Given the description of an element on the screen output the (x, y) to click on. 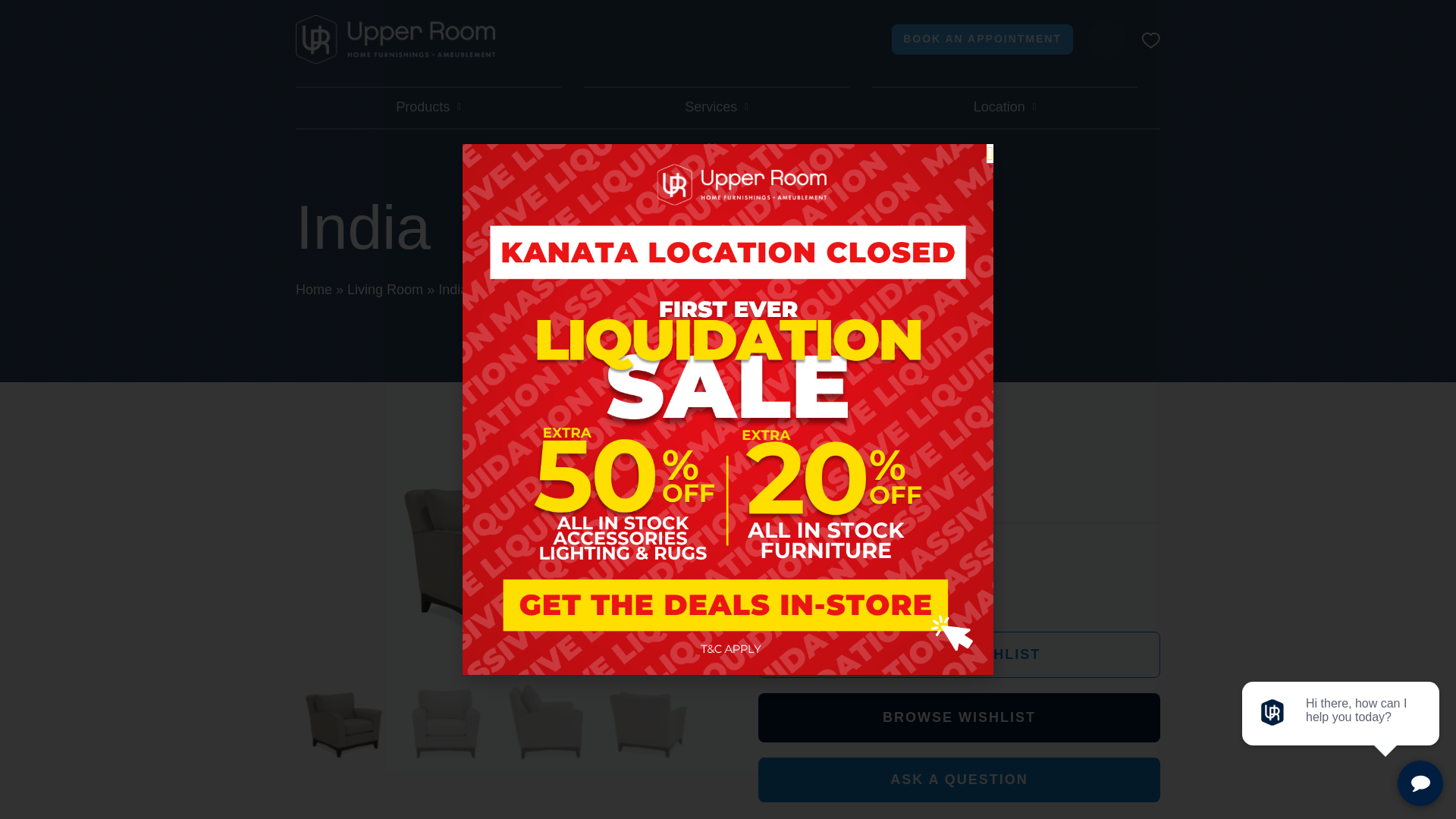
india chairs 02 77287 evoque mist front angle pdp desktop (496, 558)
Living Room (385, 289)
Home (313, 289)
BOOK AN APPOINTMENT (982, 39)
